Given the description of an element on the screen output the (x, y) to click on. 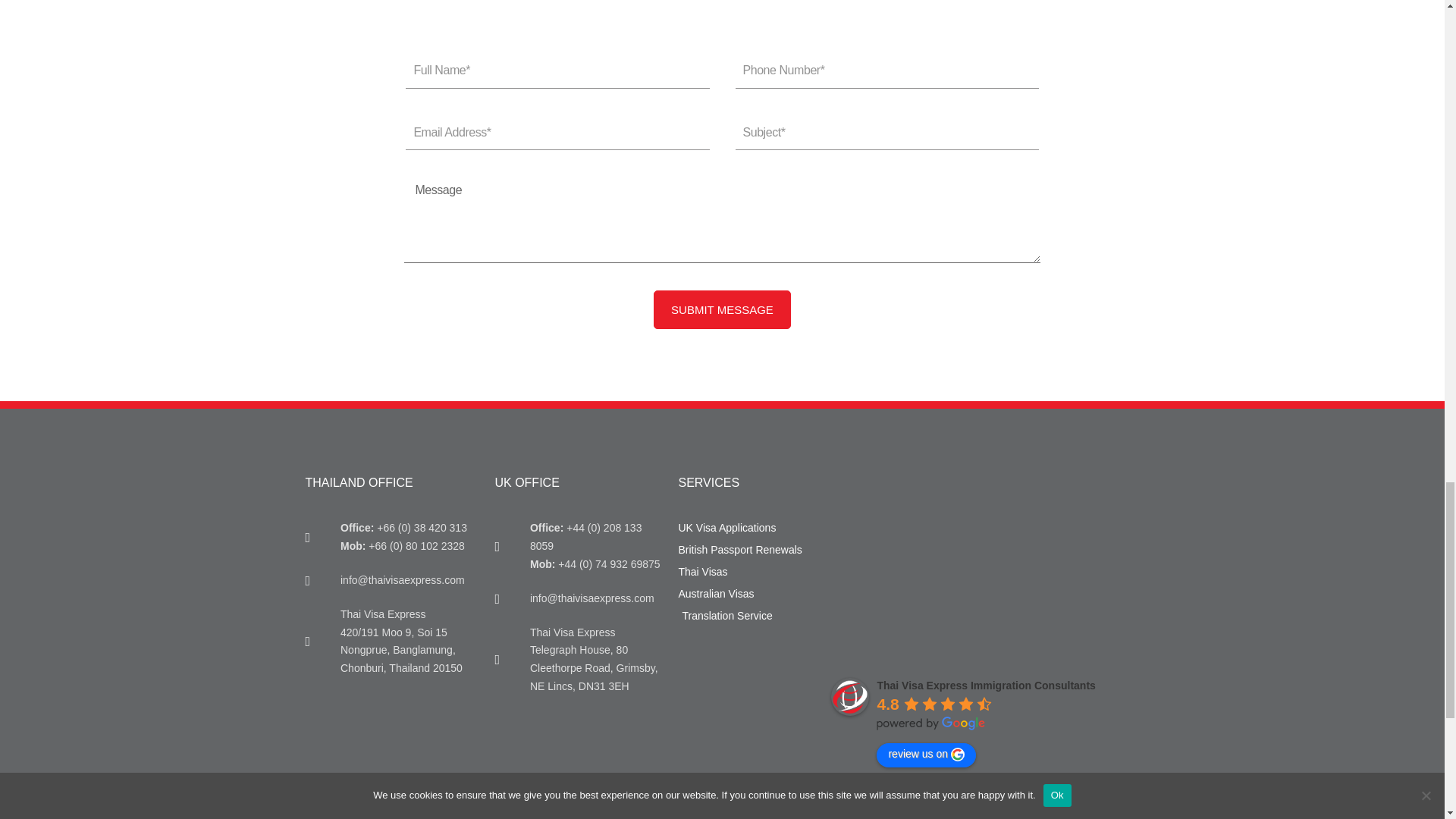
UK Visa Applications (746, 528)
Thai Visa Express Immigration Consultants (850, 696)
review us on (925, 754)
Thai Visas (746, 572)
Australian Visas (746, 594)
powered by Google (930, 723)
Translation Service (746, 616)
British Passport Renewals (746, 550)
SUBMIT MESSAGE (721, 310)
Thai Visa Express Immigration Consultants (985, 685)
